Given the description of an element on the screen output the (x, y) to click on. 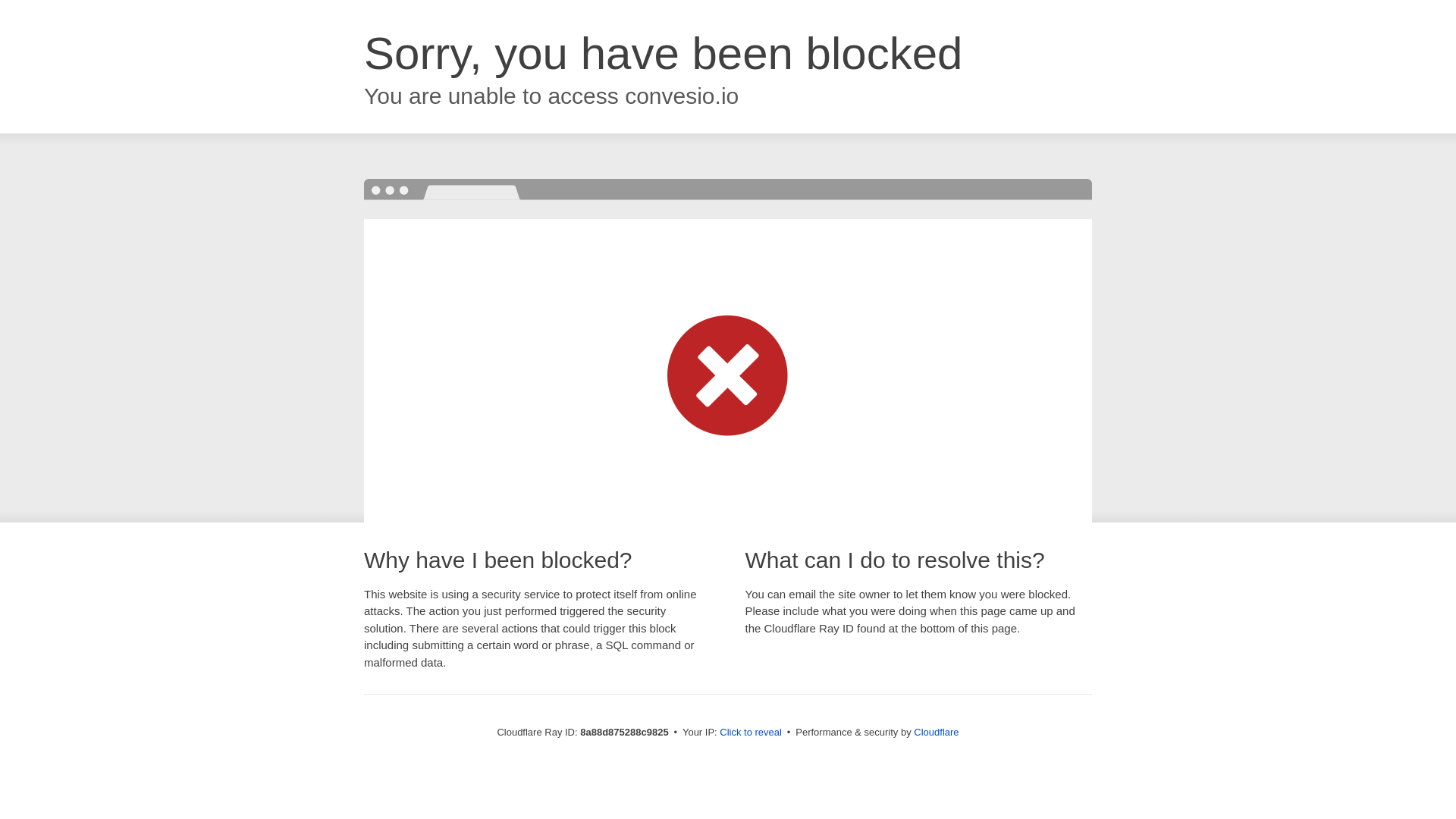
Click to reveal (750, 732)
Cloudflare (936, 731)
